Given the description of an element on the screen output the (x, y) to click on. 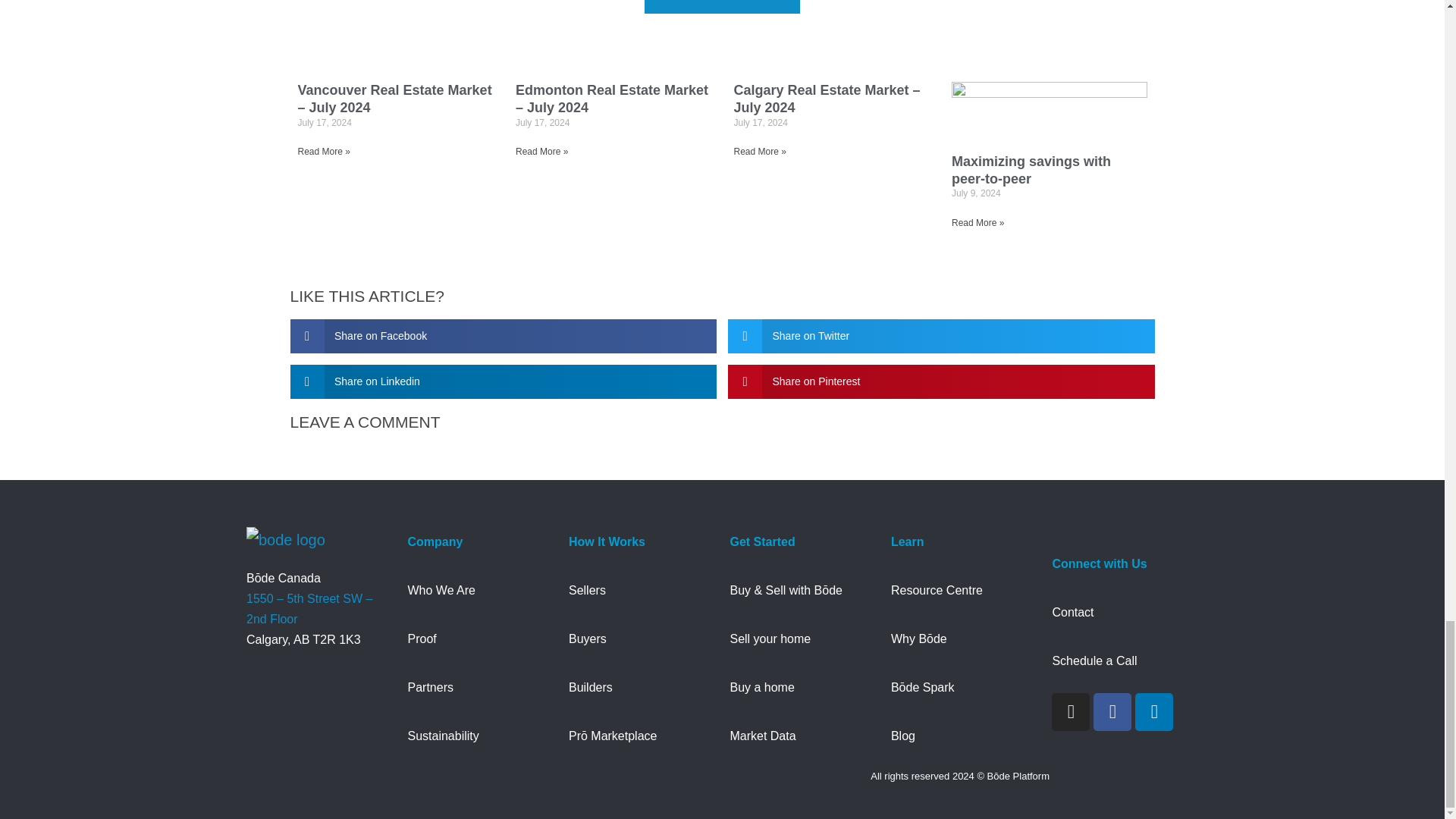
Maximizing savings with peer-to-peer (1031, 169)
GET STARTED (722, 6)
